Given the description of an element on the screen output the (x, y) to click on. 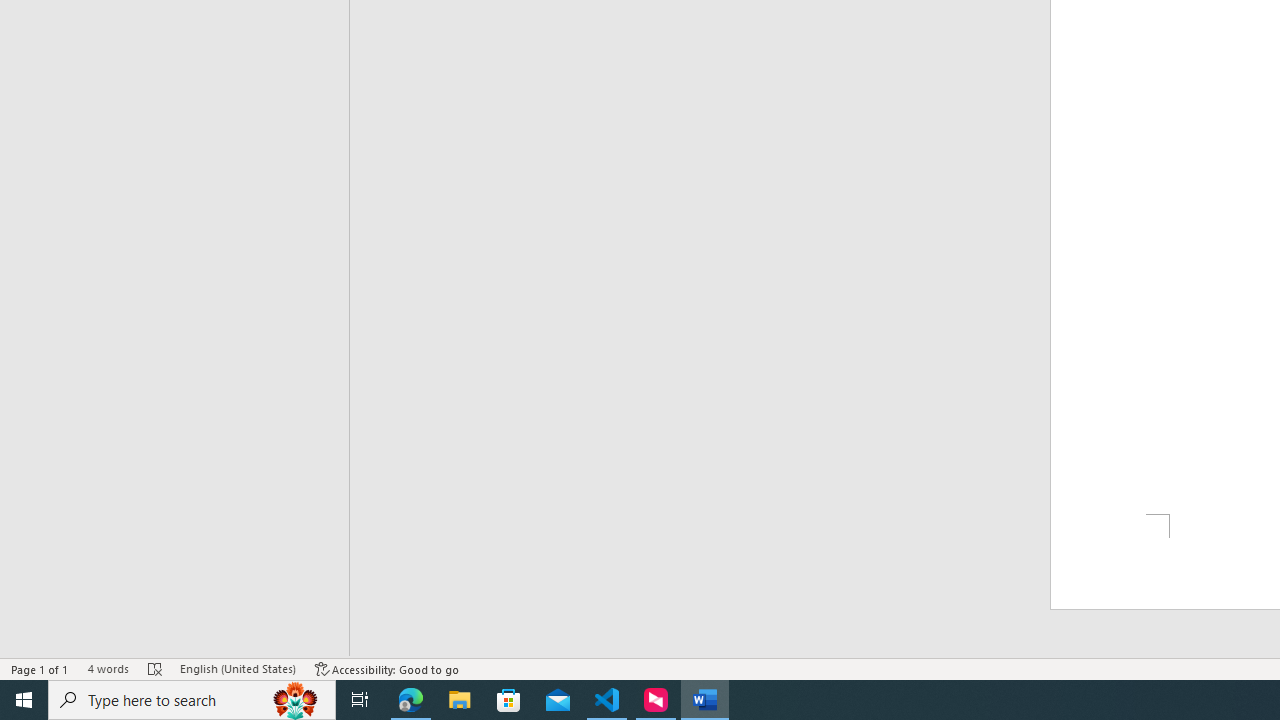
Page Number Page 1 of 1 (39, 668)
